Given the description of an element on the screen output the (x, y) to click on. 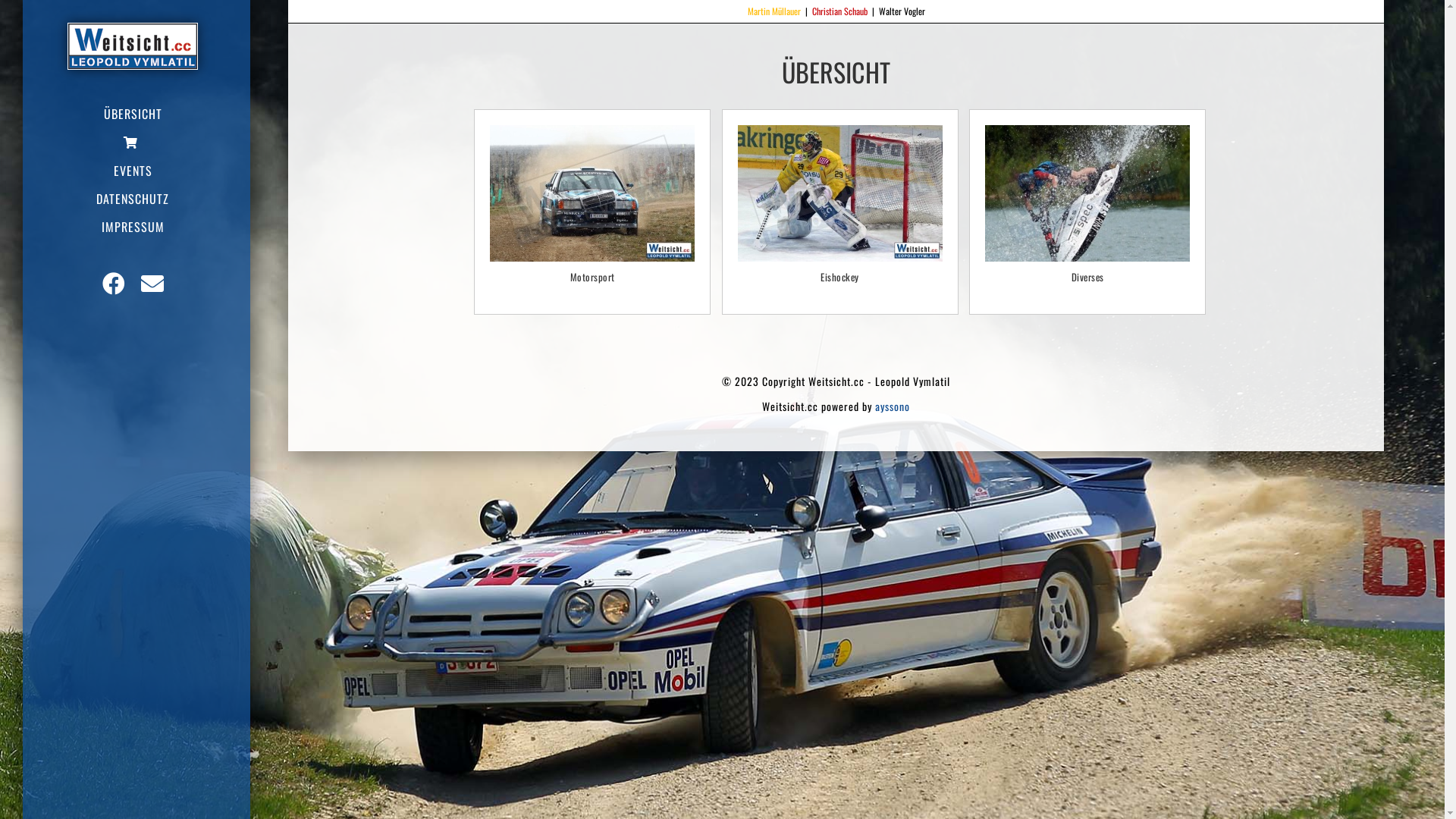
LEVY0085 Element type: hover (839, 193)
ayssono Element type: text (892, 406)
DATENSCHUTZ Element type: text (136, 198)
LEVY0008 Element type: hover (1087, 193)
Christian Schaub Element type: text (838, 10)
EVENTS Element type: text (136, 170)
Walter Vogler Element type: text (901, 10)
LEVY0087 Element type: hover (591, 193)
Motorsport Element type: text (591, 276)
Diverses Element type: text (1087, 276)
Eishockey Element type: text (839, 276)
IMPRESSUM Element type: text (136, 226)
